Given the description of an element on the screen output the (x, y) to click on. 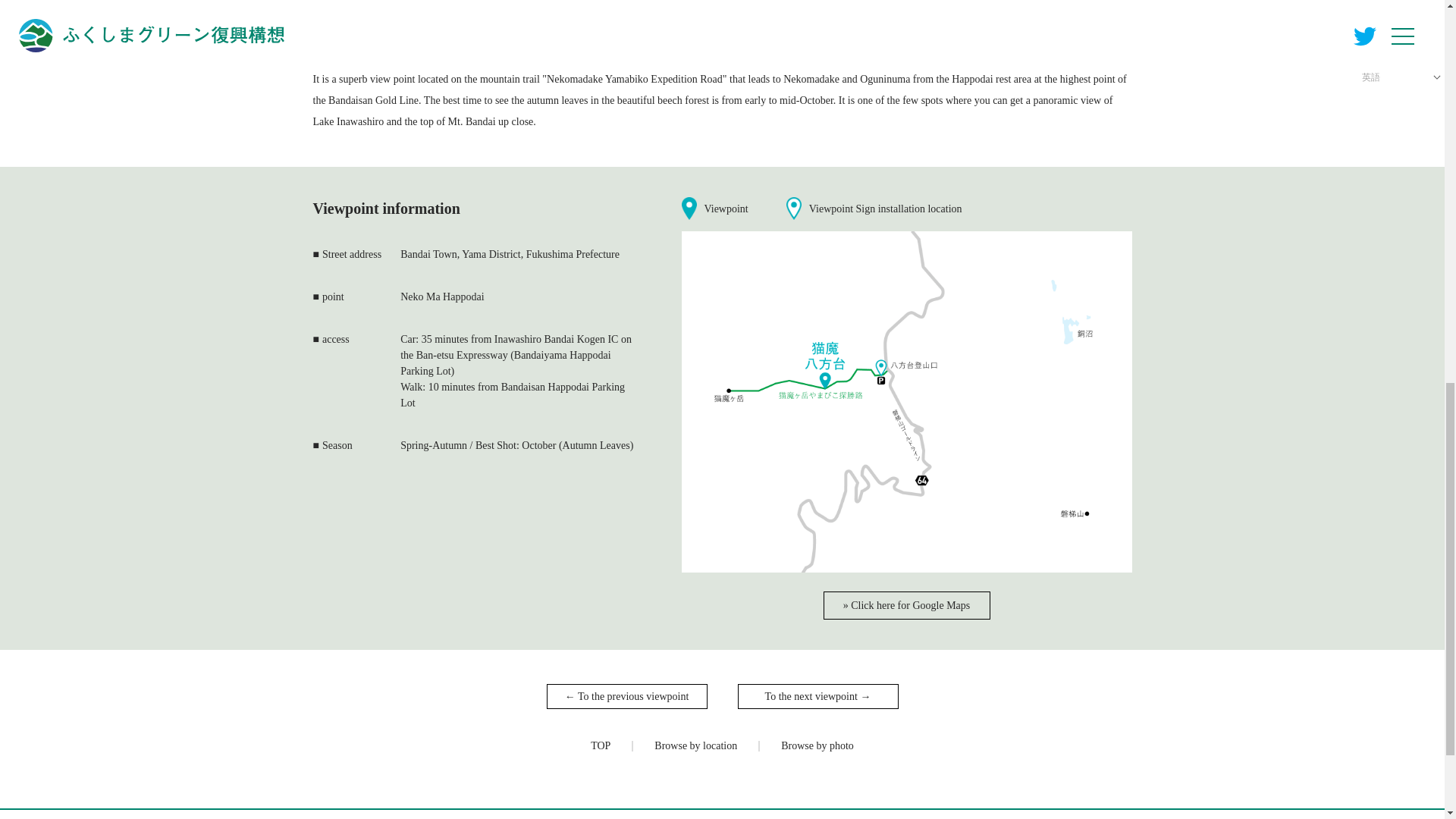
Browse by location (694, 745)
Browse by photo (816, 745)
TOP (600, 745)
